Given the description of an element on the screen output the (x, y) to click on. 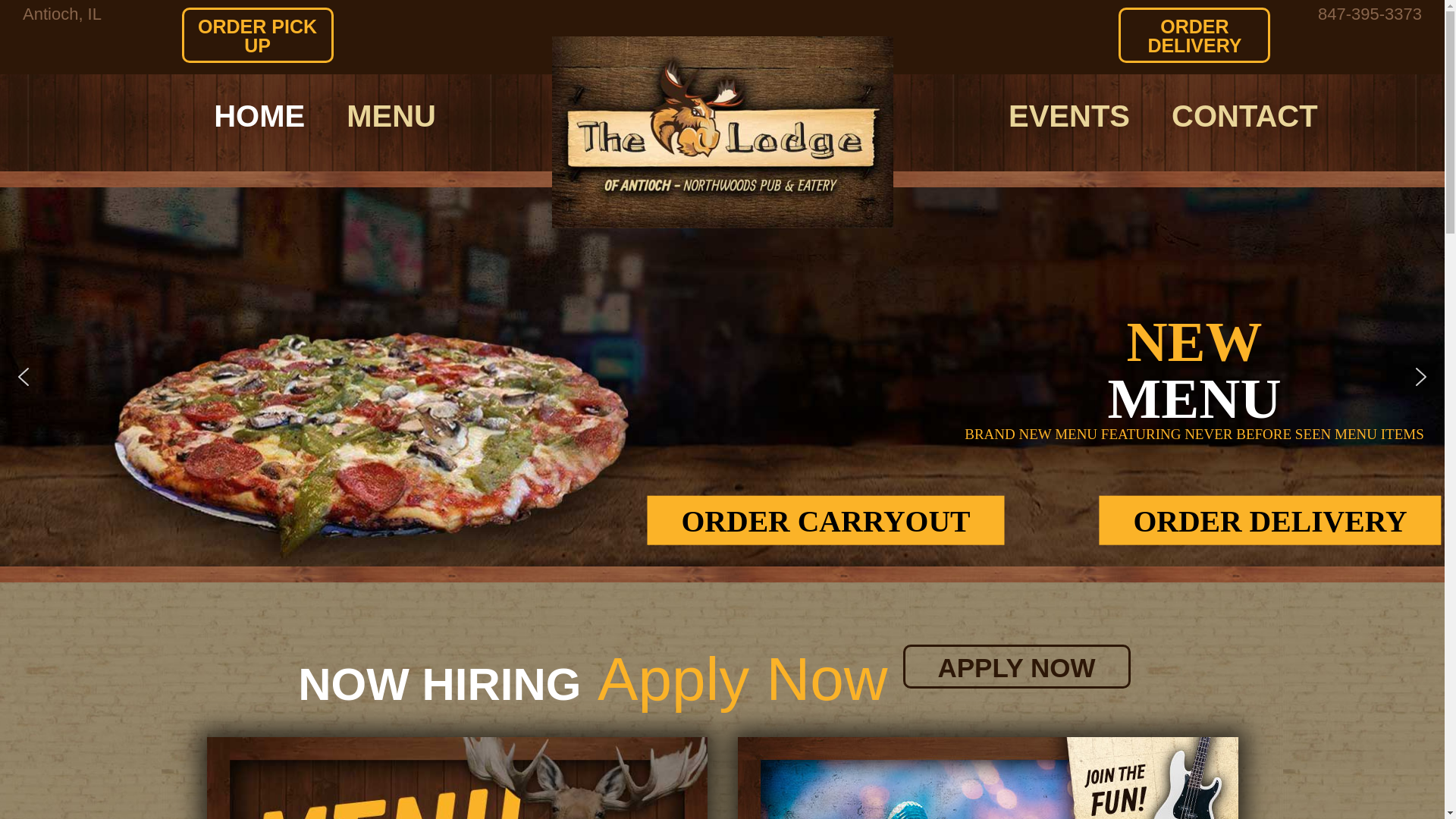
APPLY NOW (1015, 666)
ORDER DELIVERY (1270, 520)
847-395-3373 (1369, 12)
HOME (259, 115)
EVENTS (1069, 115)
CONTACT (1243, 115)
ORDER CARRYOUT (825, 520)
ORDER DELIVERY (1193, 35)
Antioch, IL (61, 12)
ORDER PICK UP (257, 35)
the-lodge-logo-header-560x315 (722, 132)
MENU (391, 115)
